Given the description of an element on the screen output the (x, y) to click on. 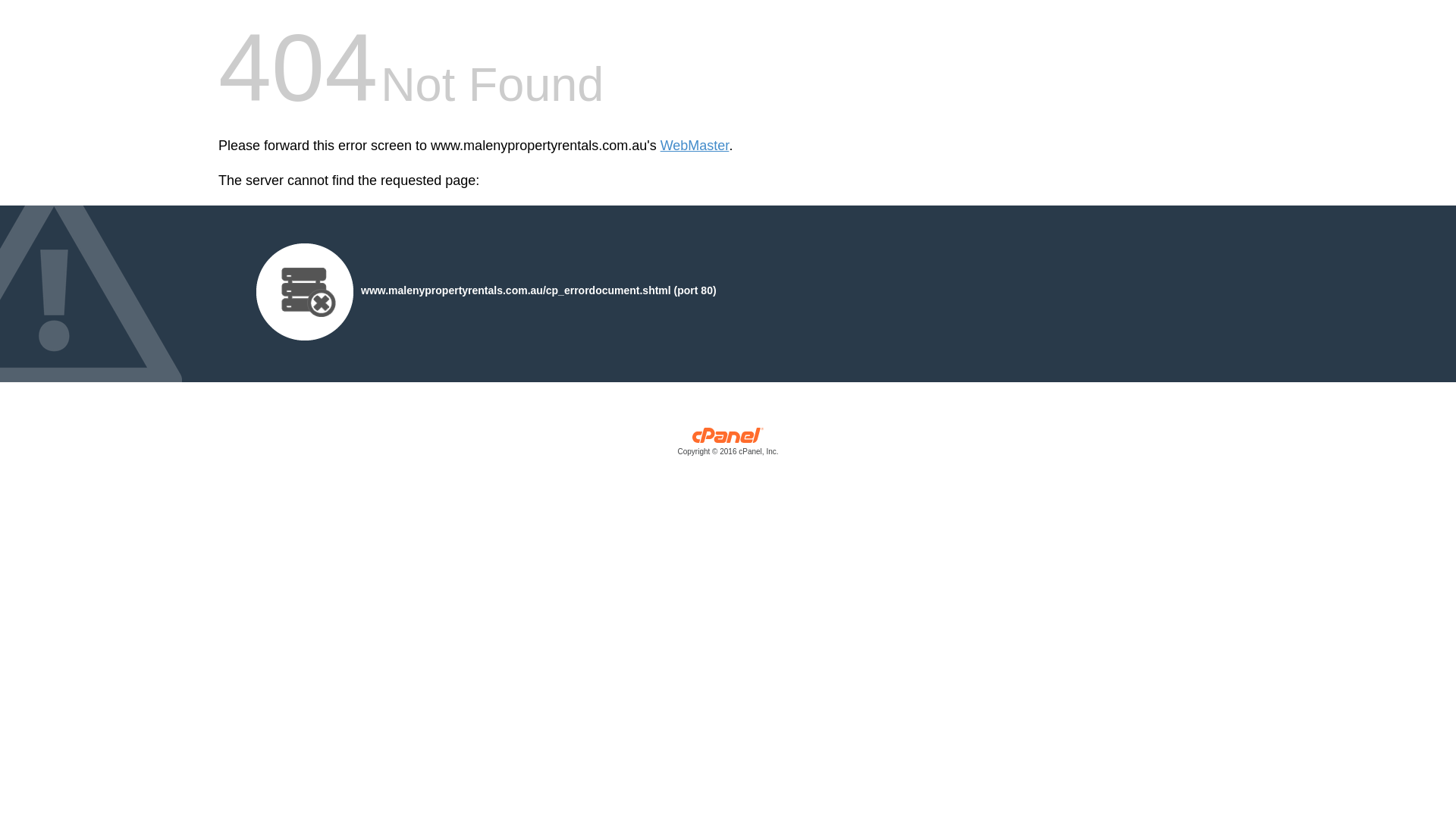
WebMaster Element type: text (694, 145)
